Given the description of an element on the screen output the (x, y) to click on. 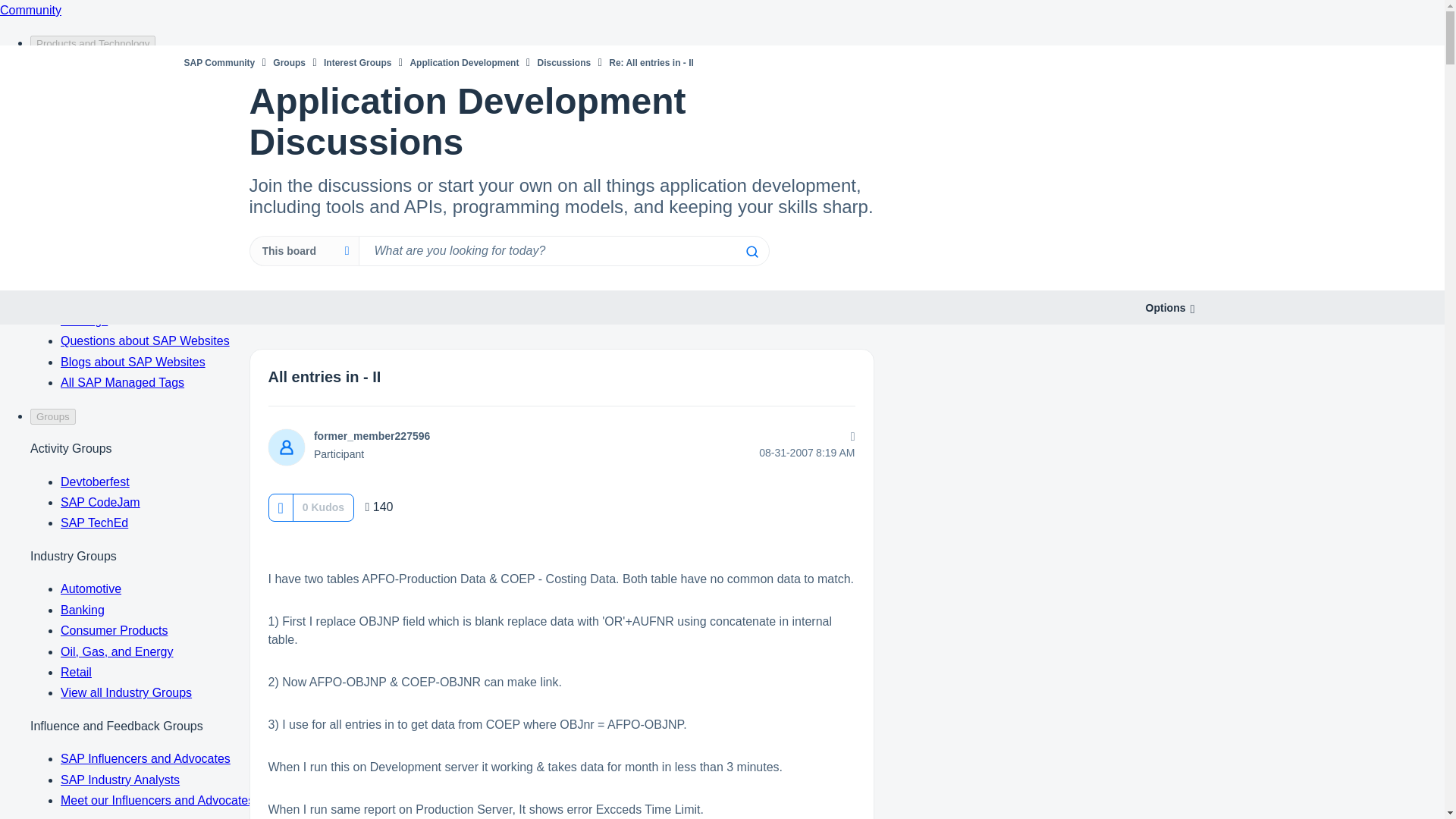
Search (750, 251)
Discussions (564, 62)
Options (1165, 307)
Groups (289, 62)
Search Granularity (303, 250)
The total number of kudos this post has received. (323, 507)
Click here to give kudos to this post. (279, 507)
SAP Community (218, 62)
Search (750, 251)
Search (750, 251)
Show option menu (1165, 307)
Application Development (463, 62)
Search (563, 250)
Interest Groups (357, 62)
